Given the description of an element on the screen output the (x, y) to click on. 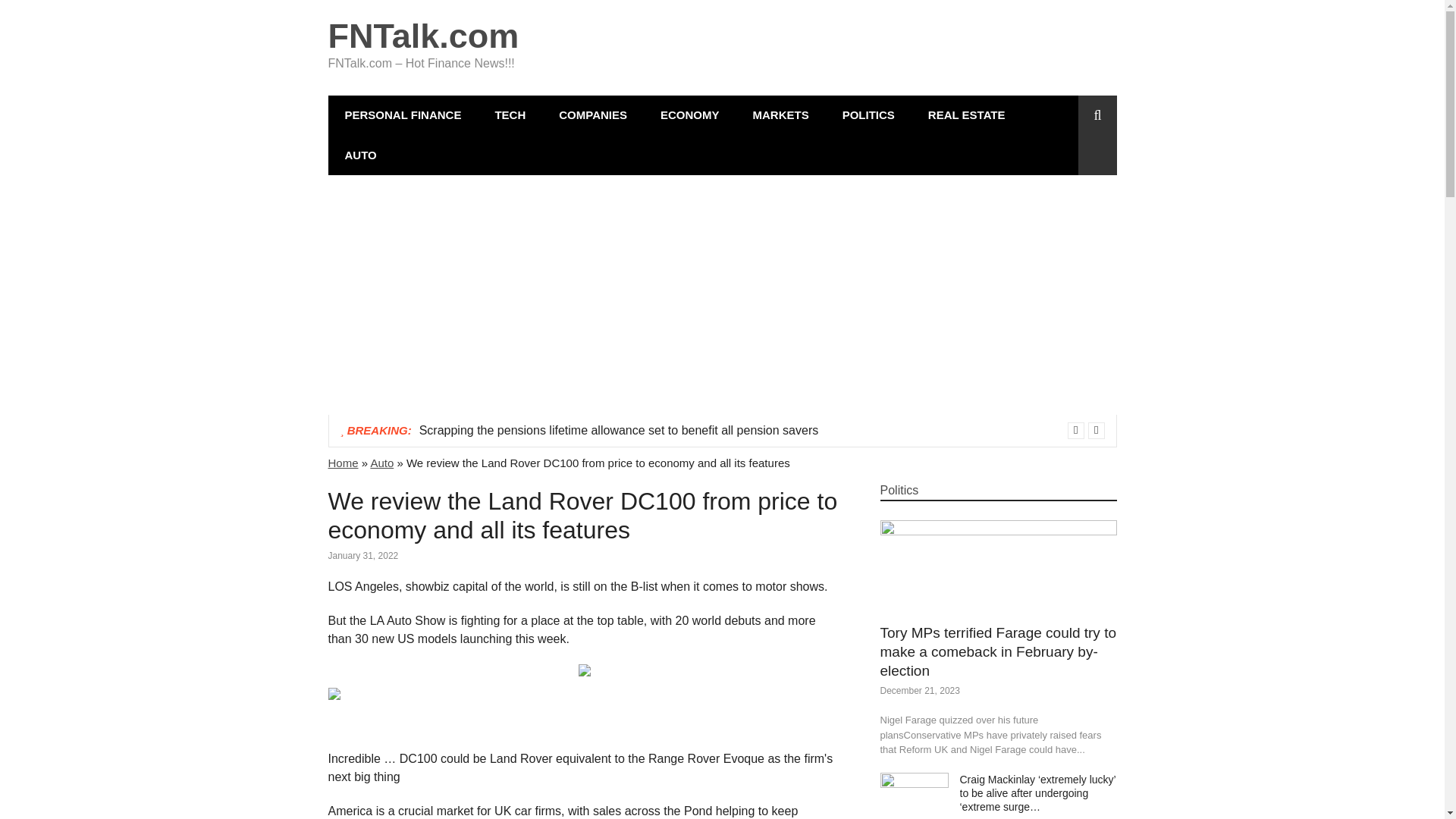
REAL ESTATE (966, 115)
AUTO (360, 155)
FNTalk.com (422, 35)
MARKETS (780, 115)
COMPANIES (592, 115)
Auto (381, 462)
TECH (509, 115)
